Given the description of an element on the screen output the (x, y) to click on. 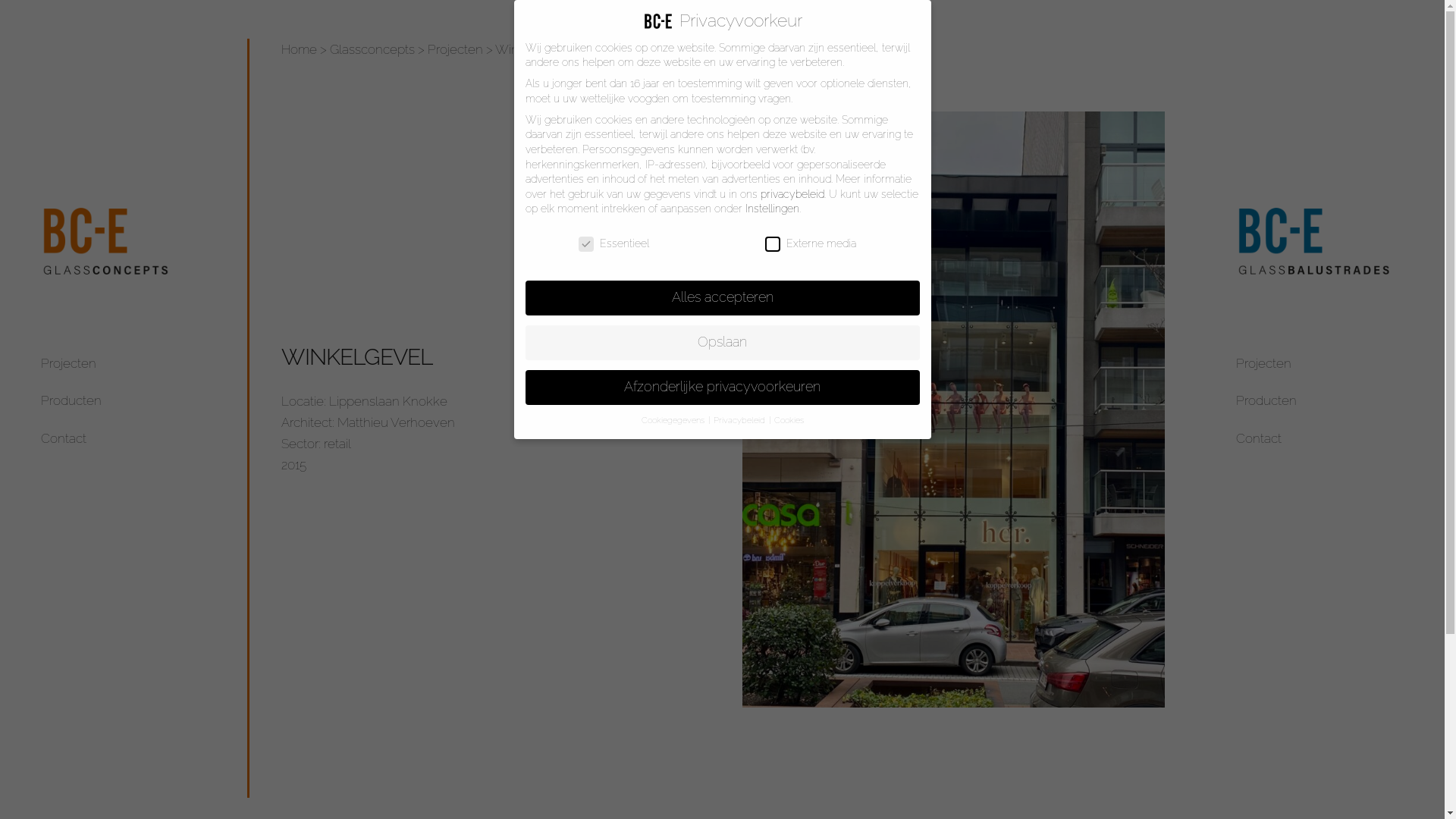
Privacybeleid Element type: text (739, 419)
Contact Element type: text (1258, 437)
Cookiegegevens Element type: text (673, 419)
Projecten Element type: text (1263, 362)
Contact Element type: text (63, 437)
Alles accepteren Element type: text (721, 297)
Cookies Element type: text (788, 419)
Projecten Element type: text (68, 362)
Afzonderlijke privacyvoorkeuren Element type: text (721, 387)
Ballustrades Element type: hover (1319, 241)
Home Element type: text (298, 48)
Projecten Element type: text (455, 48)
Opslaan Element type: text (721, 342)
Instellingen Element type: text (771, 208)
privacybeleid Element type: text (791, 194)
Producten Element type: text (1266, 399)
Glassconcepts Element type: text (371, 48)
Producten Element type: text (70, 399)
